Given the description of an element on the screen output the (x, y) to click on. 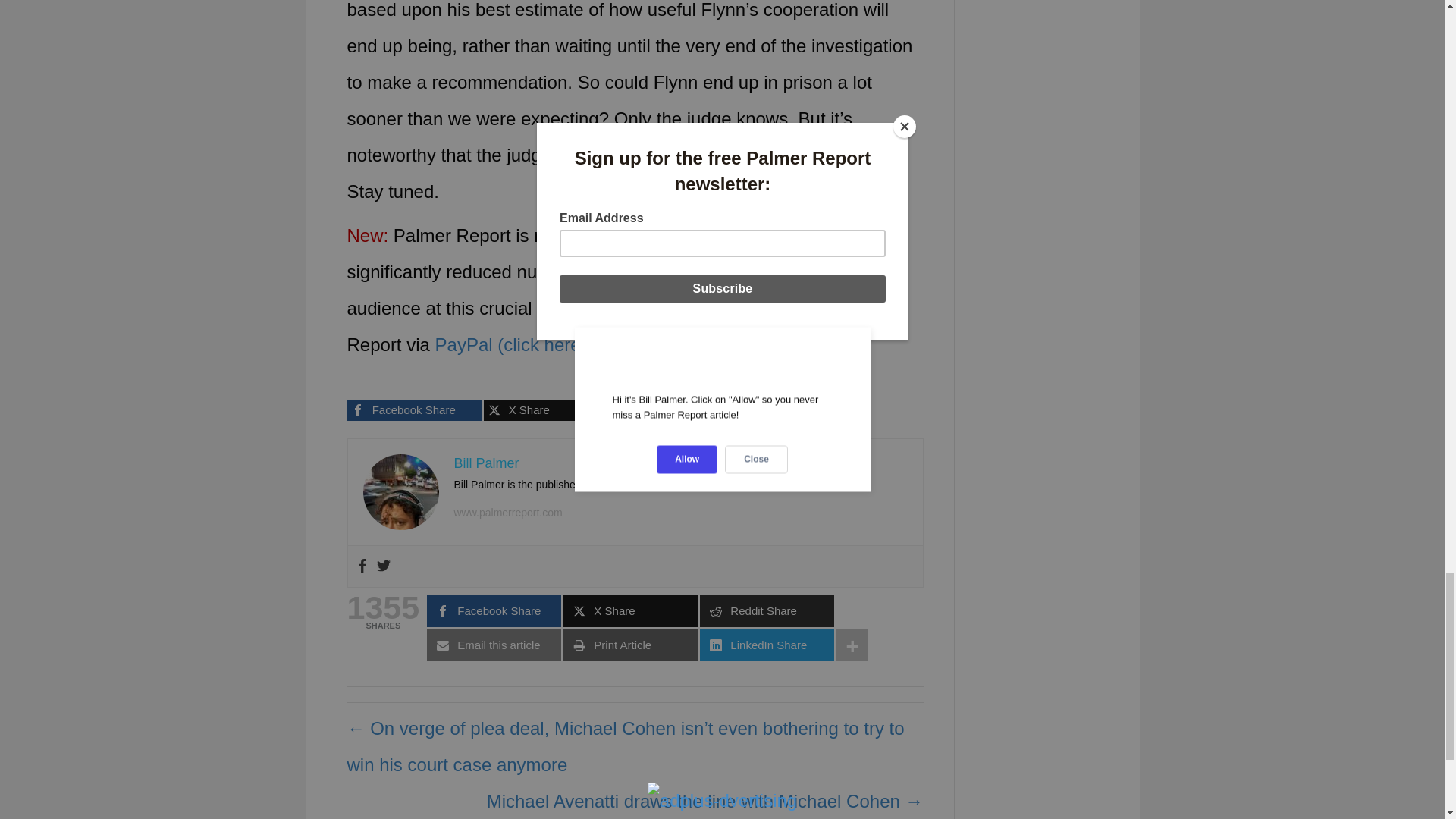
Facebook Share (414, 409)
Reddit Share (687, 409)
X Share (550, 409)
